Given the description of an element on the screen output the (x, y) to click on. 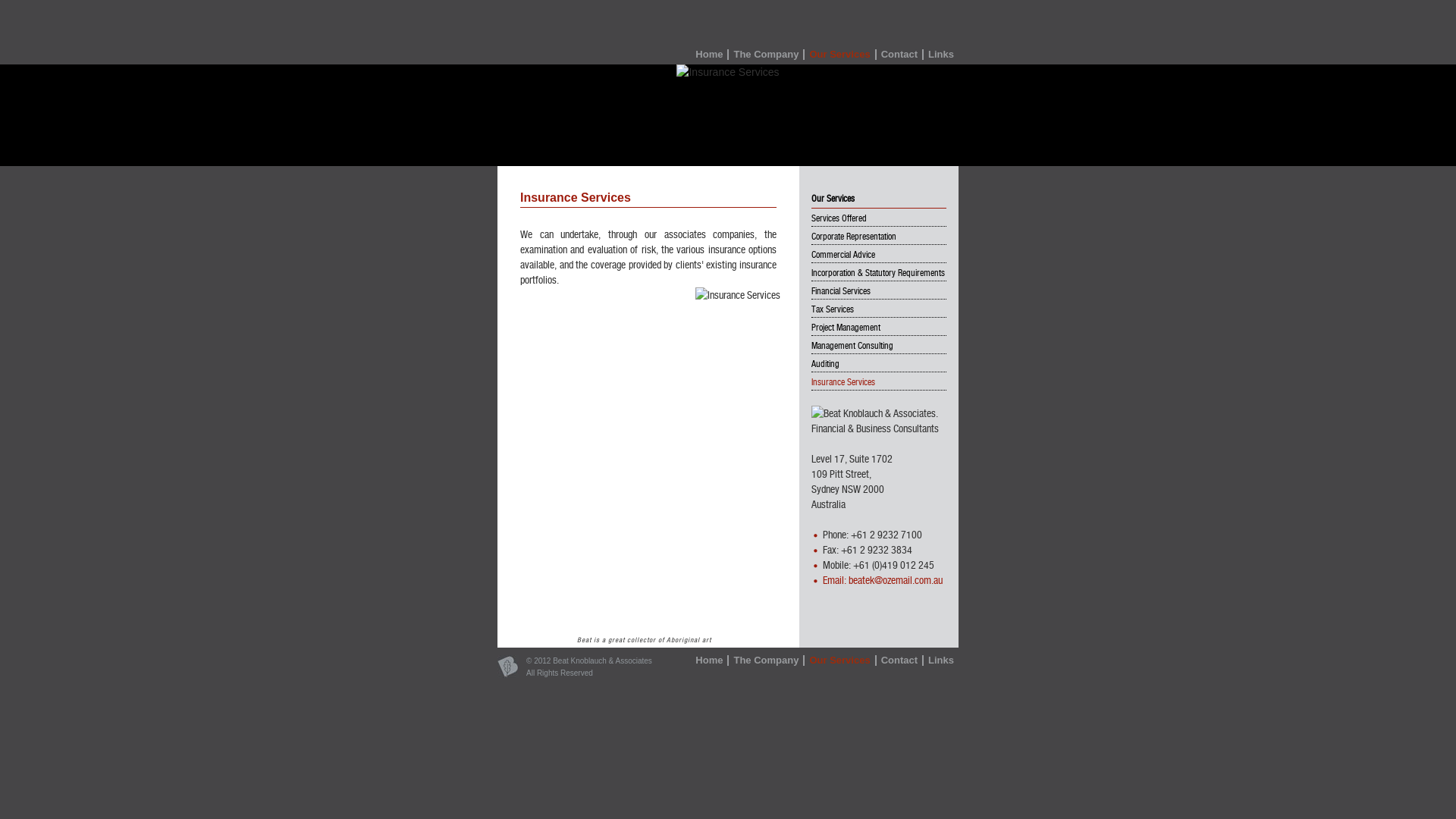
Insurance Services Element type: text (843, 381)
Tax Services Element type: text (832, 309)
The Company Element type: text (766, 660)
Home Element type: text (709, 660)
Auditing Element type: text (825, 363)
Corporate Representation Element type: text (853, 236)
Incorporation & Statutory Requirements Element type: text (877, 272)
Home Element type: text (709, 54)
Contact Element type: text (899, 54)
Links Element type: text (940, 54)
Financial Services Element type: text (840, 290)
Services Offered Element type: text (838, 218)
Our Services Element type: text (839, 660)
Project Management Element type: text (845, 327)
Links Element type: text (940, 660)
The Company Element type: text (766, 54)
Commercial Advice Element type: text (843, 254)
Our Services Element type: text (839, 54)
Management Consulting Element type: text (852, 345)
Contact Element type: text (899, 660)
Email: beatek@ozemail.com.au Element type: text (882, 580)
